Given the description of an element on the screen output the (x, y) to click on. 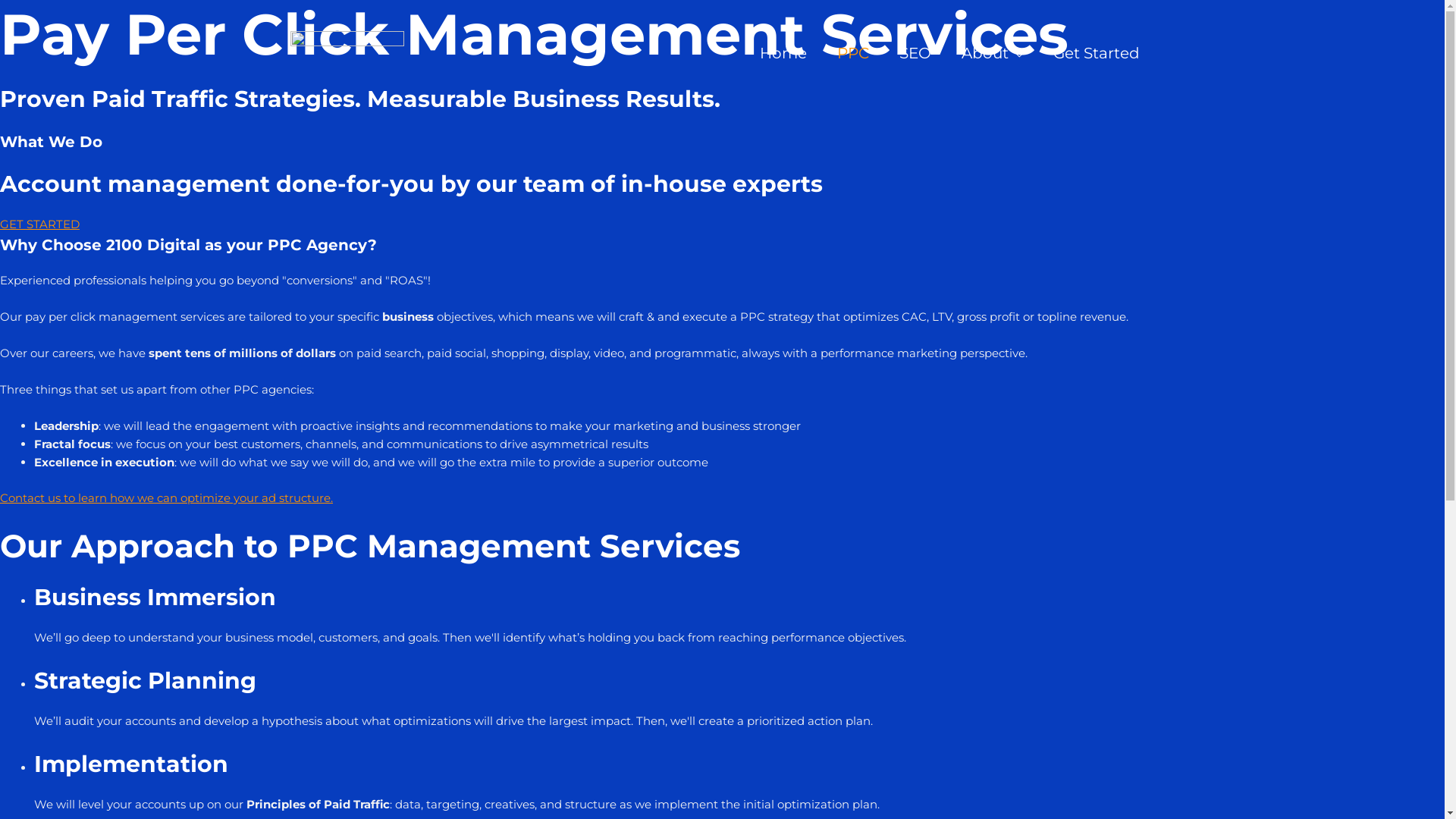
Get Started Element type: text (1095, 52)
Contact us to learn how we can optimize your ad structure. Element type: text (166, 496)
PPC Element type: text (853, 52)
Home Element type: text (783, 52)
SEO Element type: text (915, 52)
GET STARTED Element type: text (39, 223)
About Element type: text (992, 52)
